Given the description of an element on the screen output the (x, y) to click on. 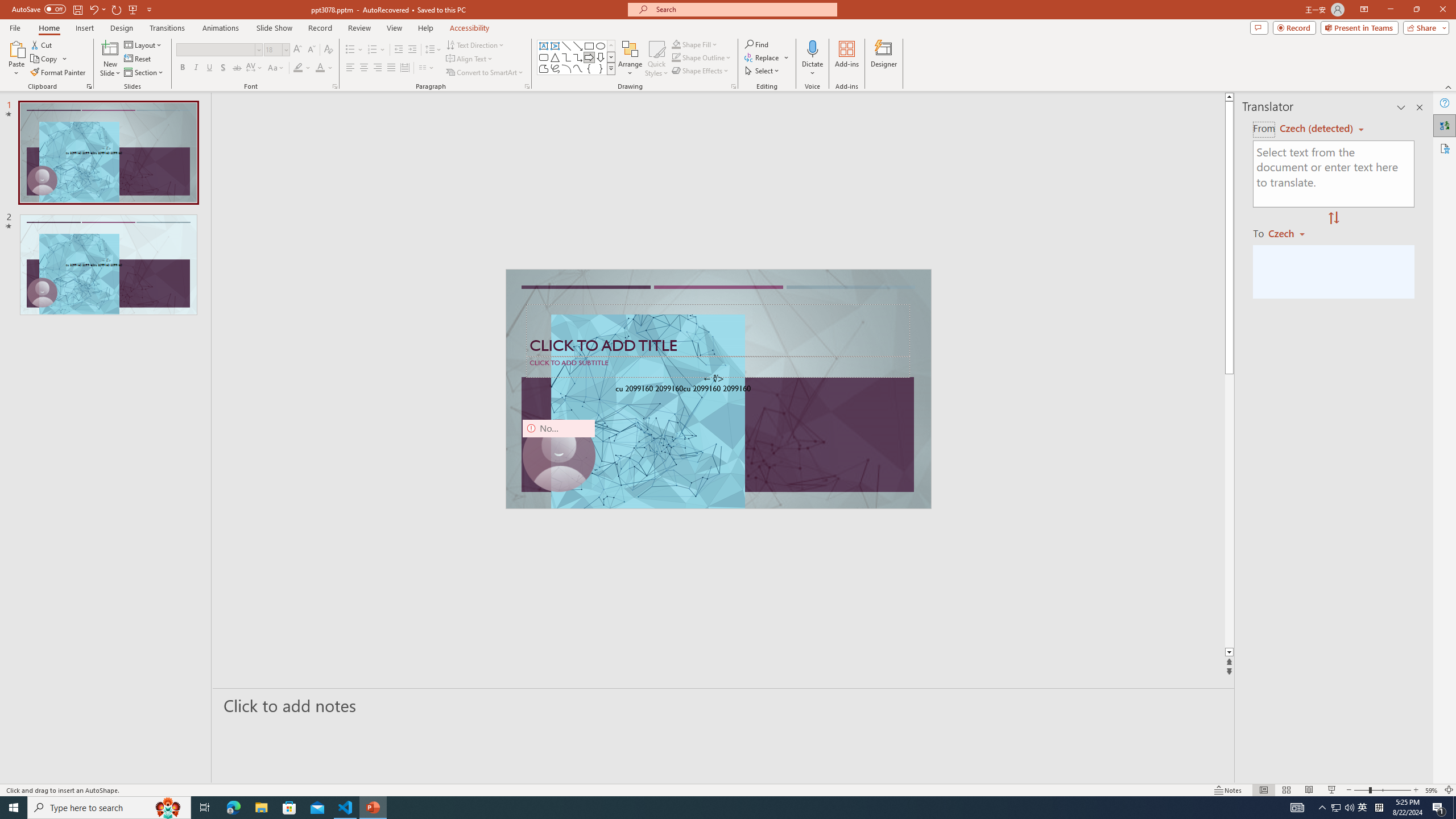
Czech (detected) (1317, 128)
TextBox 7 (713, 378)
